Given the description of an element on the screen output the (x, y) to click on. 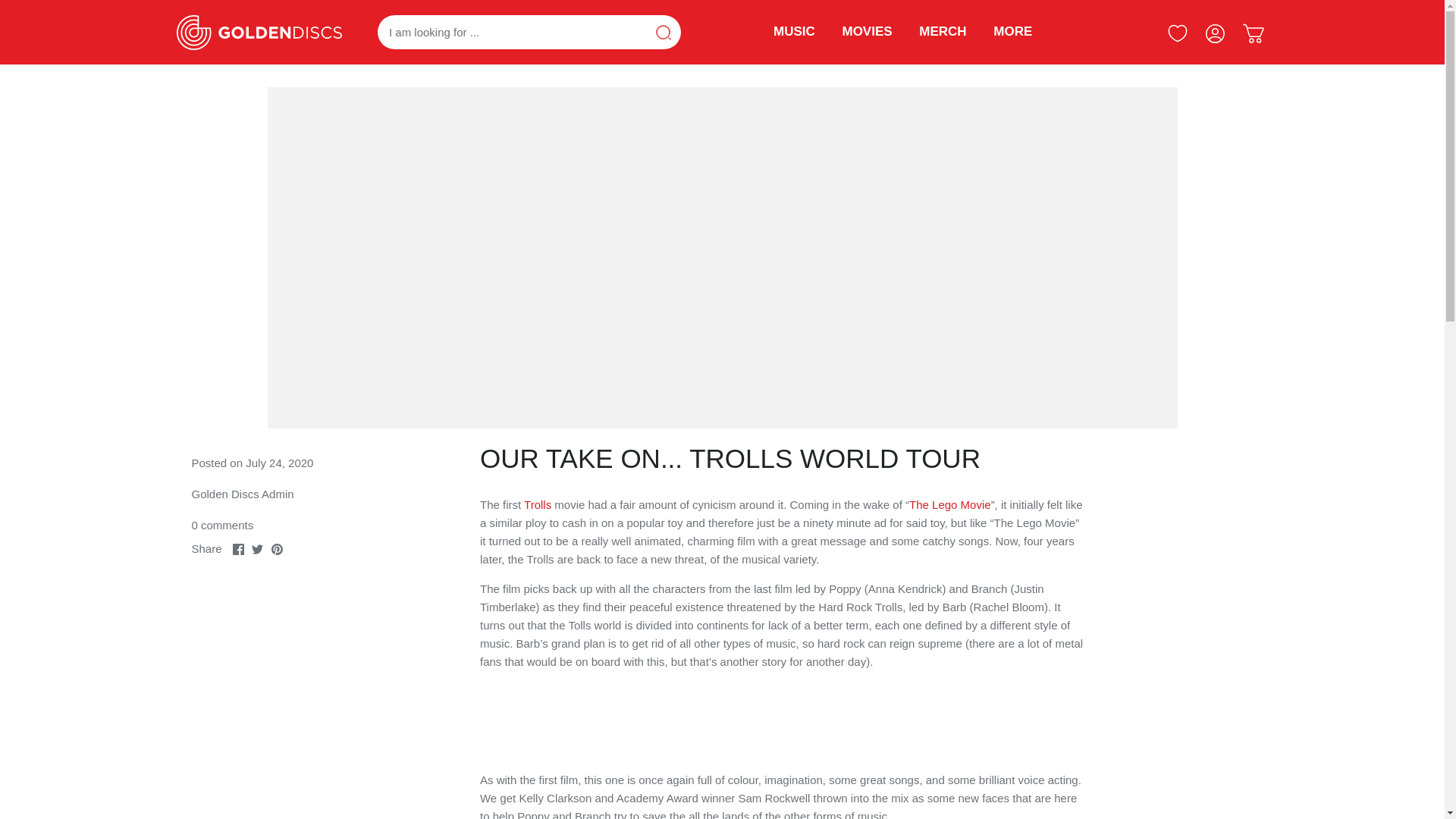
MUSIC (800, 32)
Pinterest (276, 549)
Facebook (238, 549)
Twitter (257, 549)
